Given the description of an element on the screen output the (x, y) to click on. 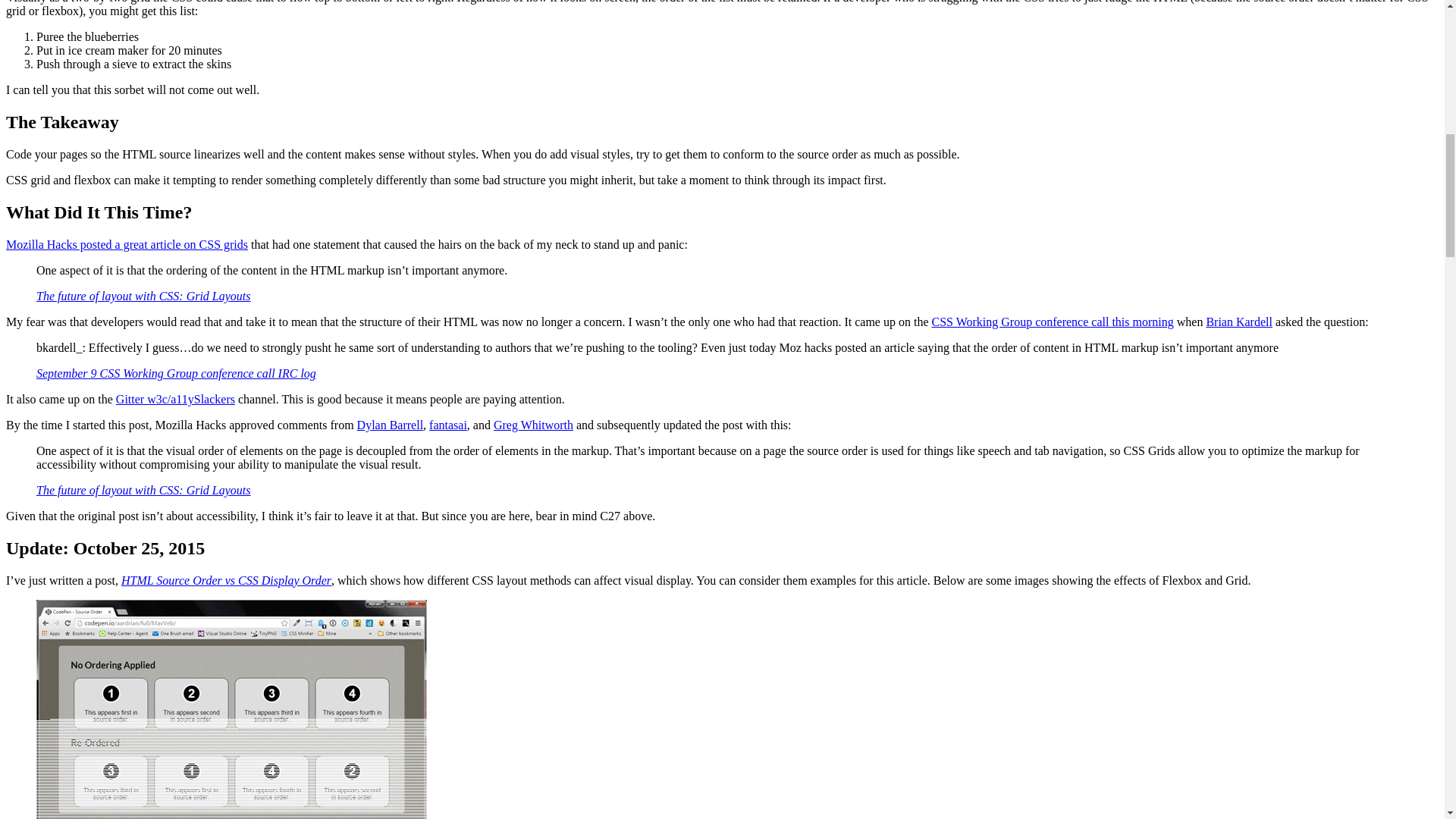
The future of layout with CSS: Grid Layouts (143, 490)
fantasai (448, 424)
CSS Working Group conference call this morning (1052, 321)
Dylan Barrell (389, 424)
Greg Whitworth (533, 424)
September 9 CSS Working Group conference call IRC log (175, 373)
Brian Kardell (1238, 321)
Mozilla Hacks posted a great article on CSS grids (126, 244)
HTML Source Order vs CSS Display Order (225, 580)
The future of layout with CSS: Grid Layouts (143, 295)
